Given the description of an element on the screen output the (x, y) to click on. 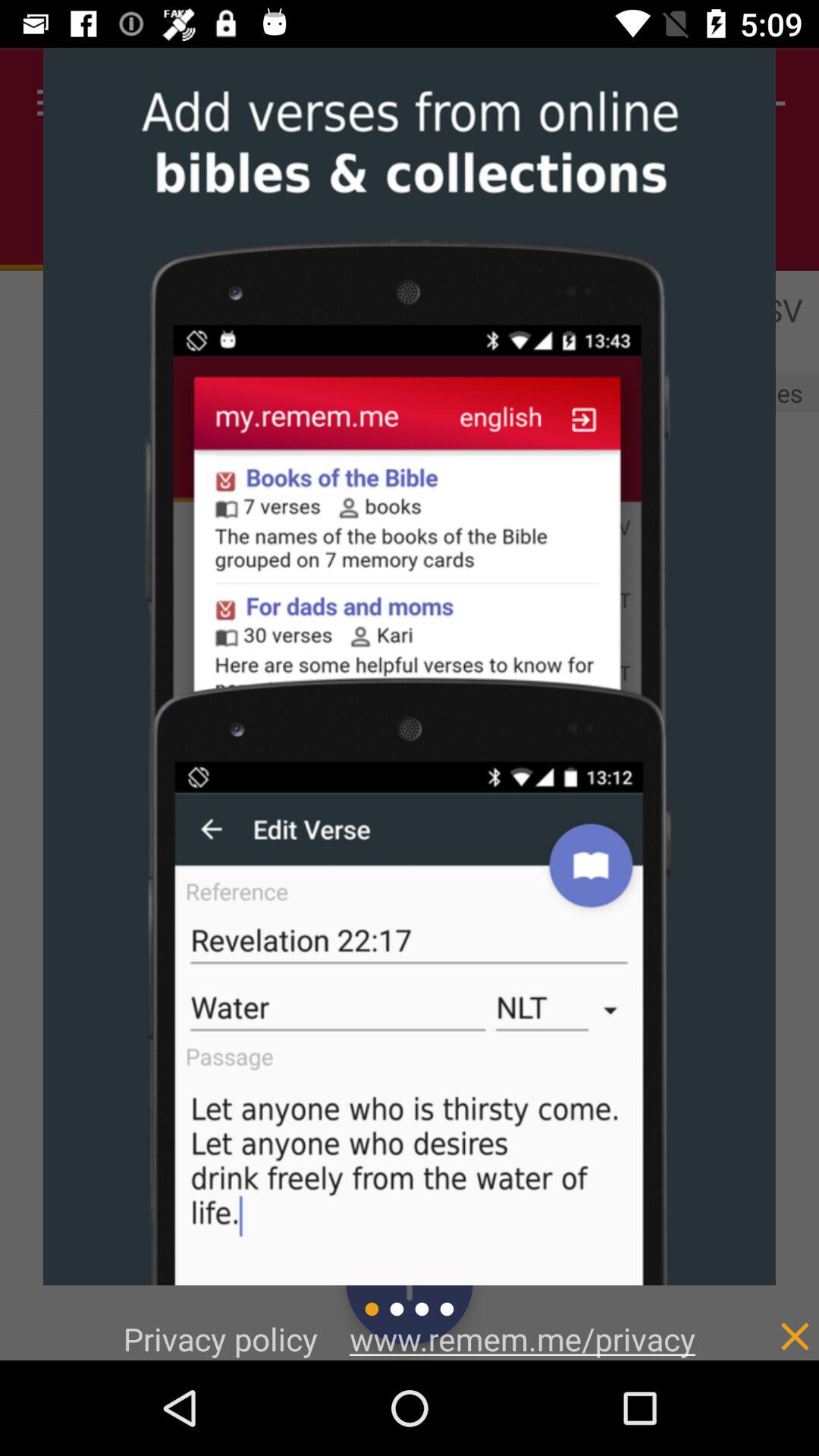
close privacy policy (763, 1320)
